Given the description of an element on the screen output the (x, y) to click on. 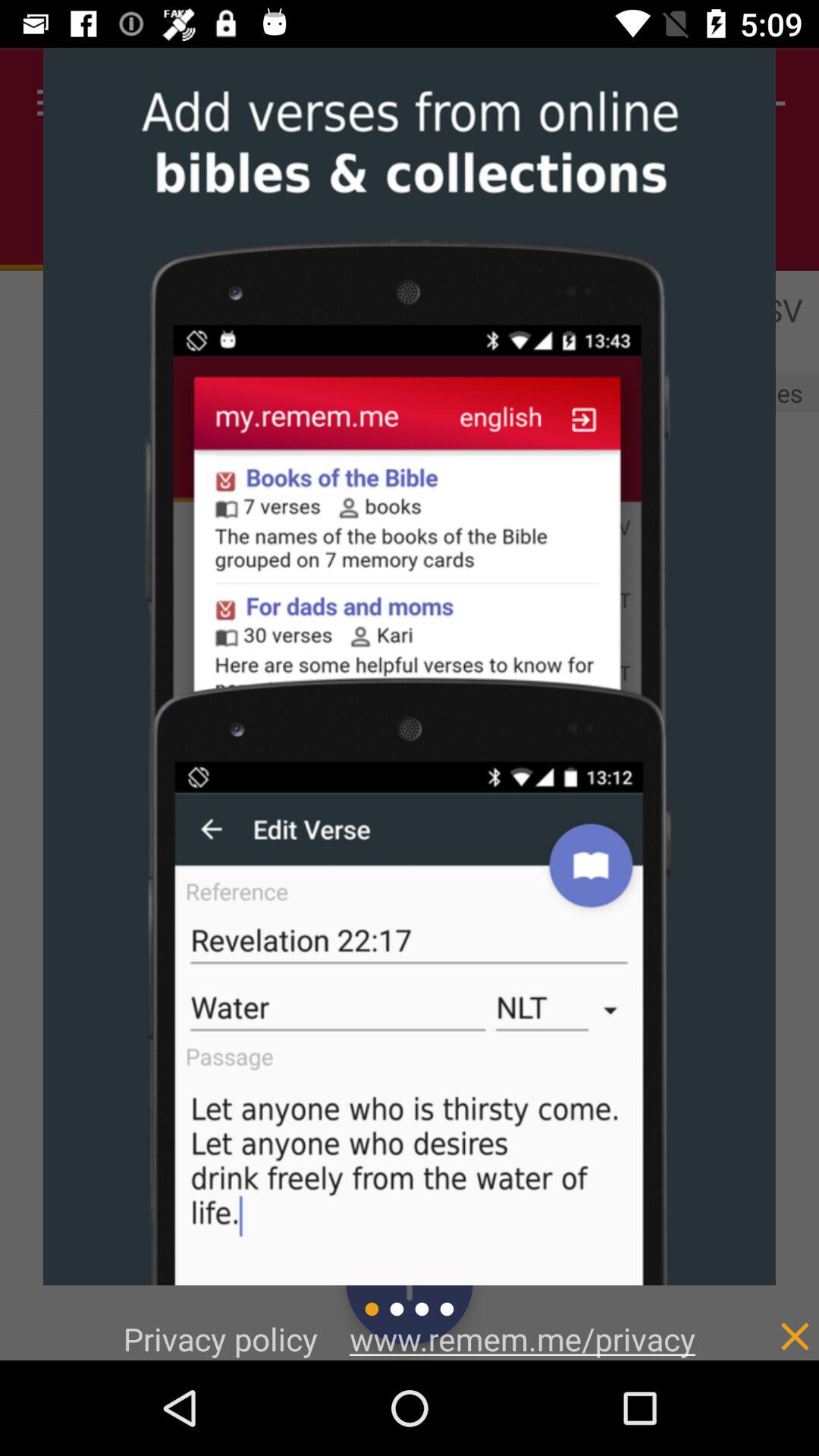
close privacy policy (763, 1320)
